Given the description of an element on the screen output the (x, y) to click on. 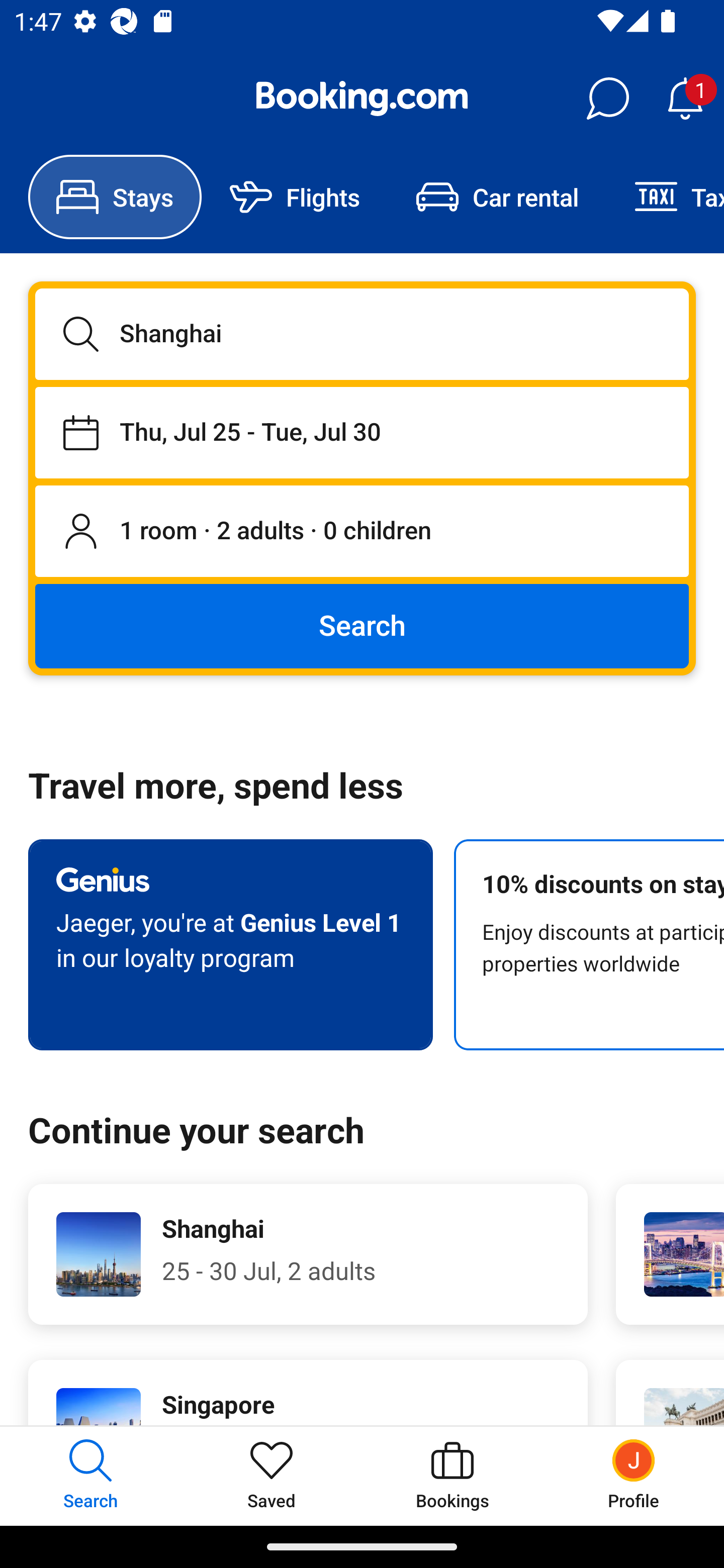
Messages (607, 98)
Notifications (685, 98)
Stays (114, 197)
Flights (294, 197)
Car rental (497, 197)
Taxi (665, 197)
Shanghai (361, 333)
Staying from Thu, Jul 25 until Tue, Jul 30 (361, 432)
1 room, 2 adults, 0 children (361, 531)
Search (361, 625)
Shanghai 25 - 30 Jul, 2 adults (307, 1253)
Saved (271, 1475)
Bookings (452, 1475)
Profile (633, 1475)
